Given the description of an element on the screen output the (x, y) to click on. 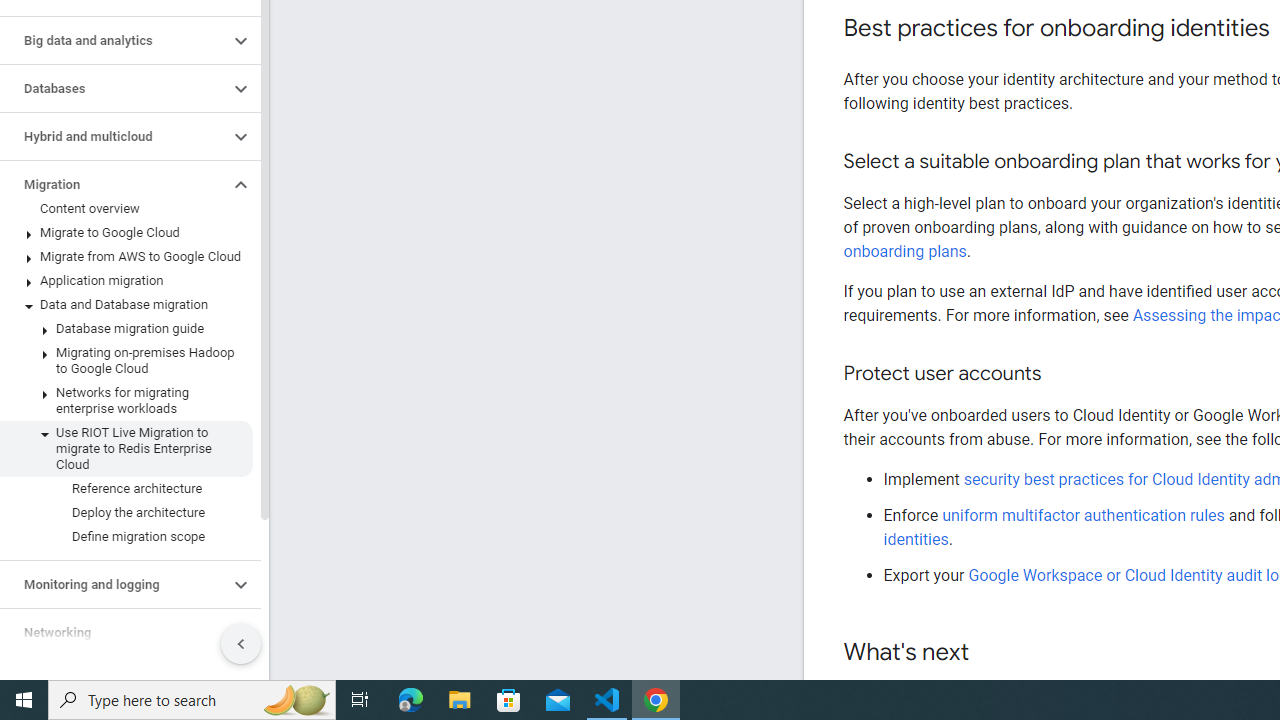
Copy link to this section: What's next (988, 653)
Big data and analytics (114, 40)
Define migration scope (126, 536)
Data and Database migration (126, 304)
uniform multifactor authentication rules  (1085, 515)
Hybrid and multicloud (114, 137)
Use RIOT Live Migration to migrate to Redis Enterprise Cloud (126, 448)
Databases (114, 88)
Content overview (126, 209)
Deploy the architecture (126, 512)
Migrate to Google Cloud (126, 232)
Application migration (126, 281)
Migrate from AWS to Google Cloud (126, 256)
Networking (114, 632)
